Given the description of an element on the screen output the (x, y) to click on. 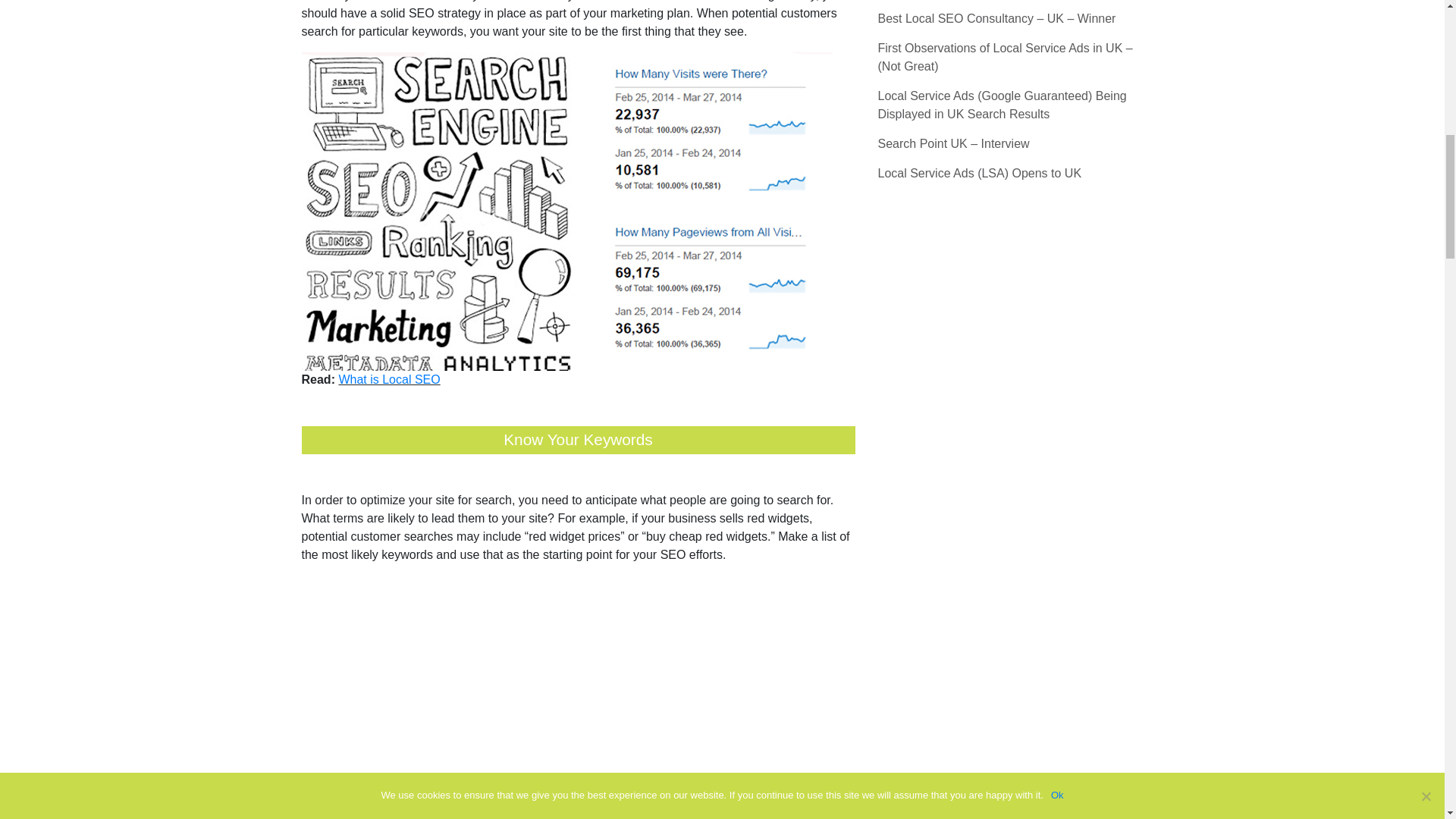
What is Local SEO (388, 379)
